Given the description of an element on the screen output the (x, y) to click on. 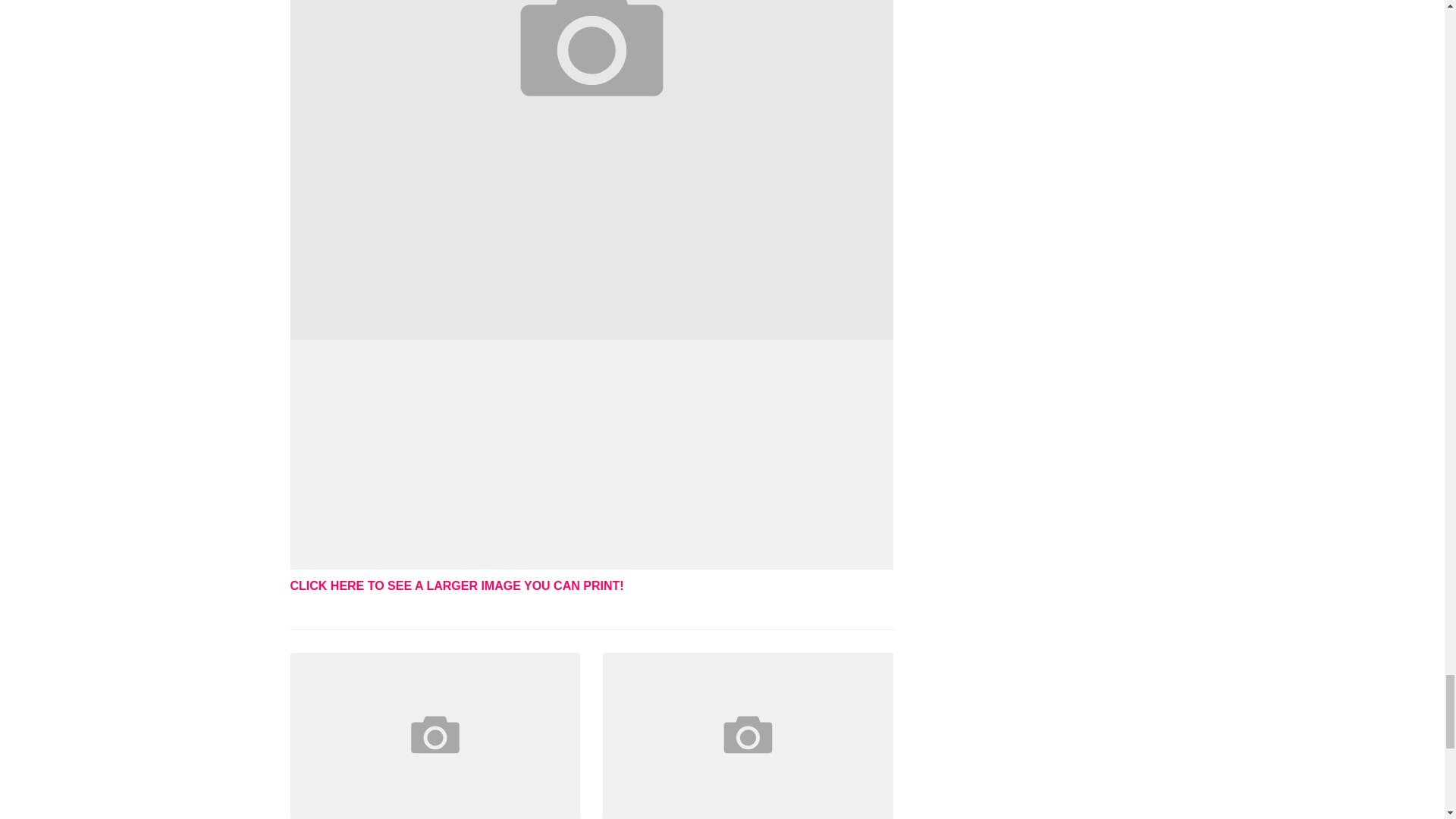
CLICK HERE TO SEE A LARGER IMAGE YOU CAN PRINT! (456, 585)
